Given the description of an element on the screen output the (x, y) to click on. 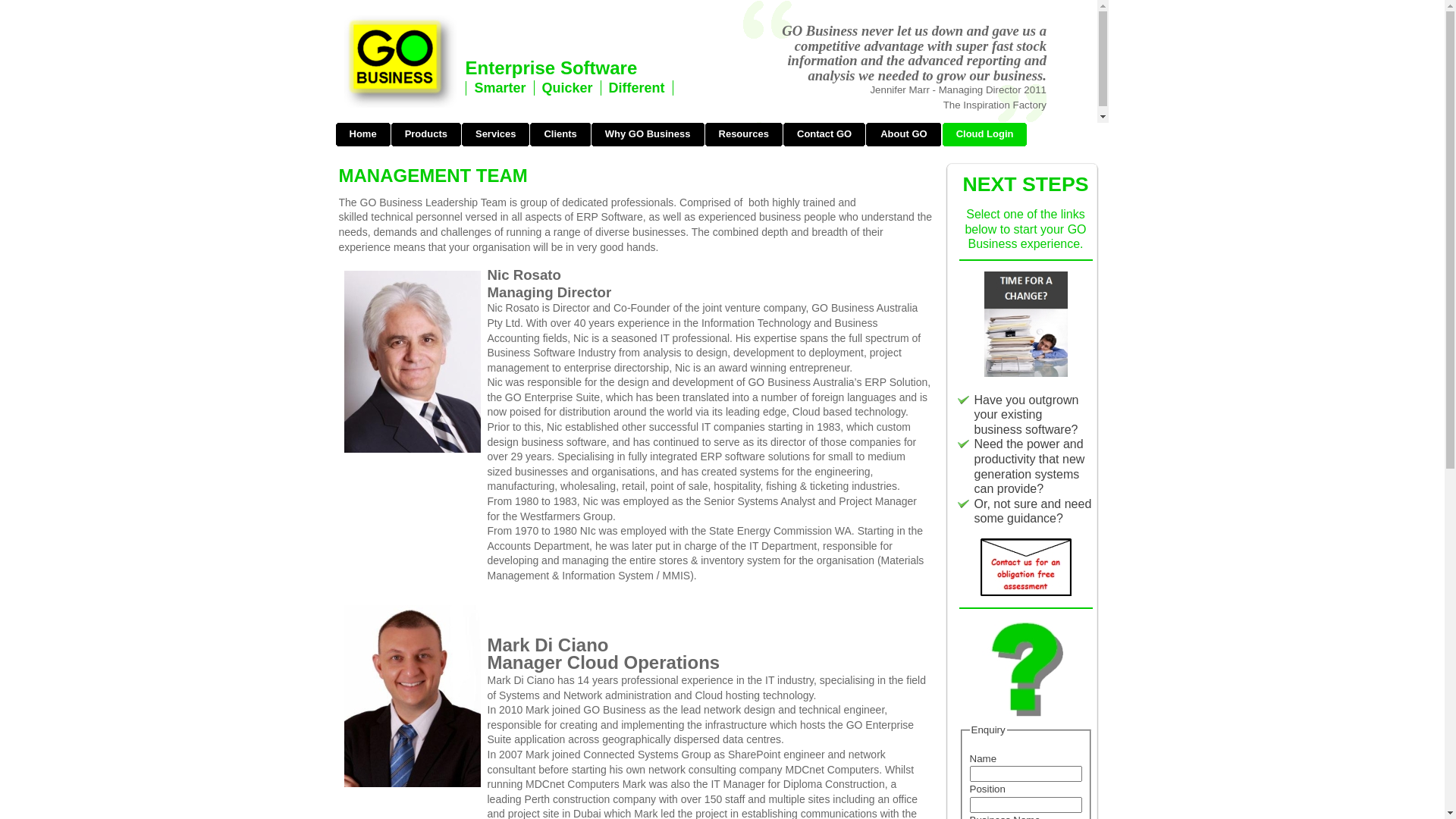
Quicker Element type: text (567, 87)
Products Element type: text (426, 137)
Resources Element type: text (743, 137)
About GO Element type: text (903, 137)
Different Element type: text (636, 87)
Smarter Element type: text (500, 87)
Cloud Login Element type: text (984, 137)
Contact GO Element type: text (824, 137)
Go Business Element type: hover (399, 61)
Services Element type: text (495, 137)
Why GO Business Element type: text (647, 137)
Clients Element type: text (559, 137)
Home Element type: text (362, 137)
